Given the description of an element on the screen output the (x, y) to click on. 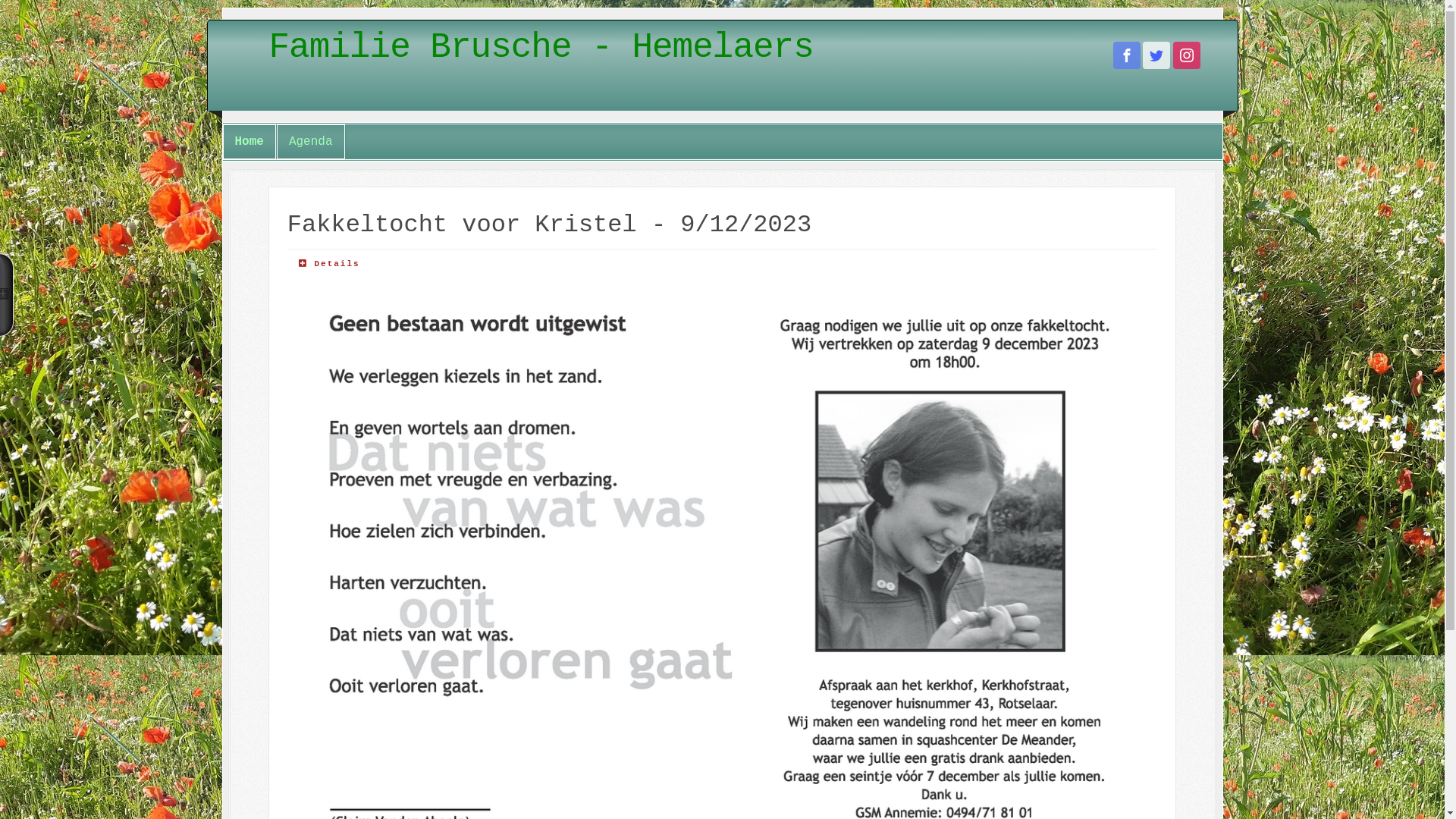
Home Element type: text (249, 141)
Toggle in / out Element type: hover (6, 294)
Familie Brusche - Hemelaers Element type: text (744, 43)
Agenda Element type: text (310, 141)
Fakkeltocht voor Kristel - 9/12/2023 Element type: text (549, 224)
